Given the description of an element on the screen output the (x, y) to click on. 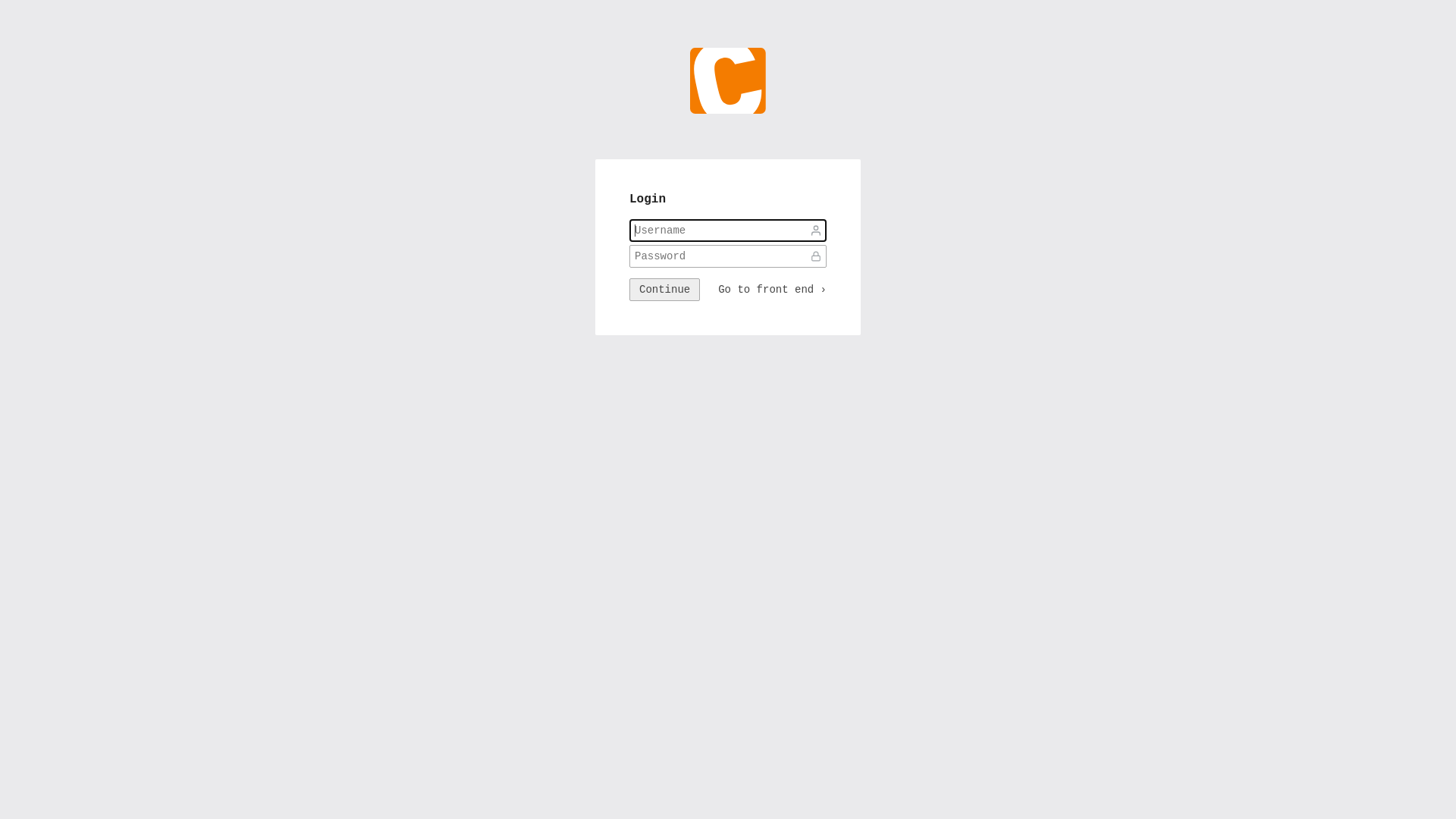
Continue Element type: text (664, 289)
